Given the description of an element on the screen output the (x, y) to click on. 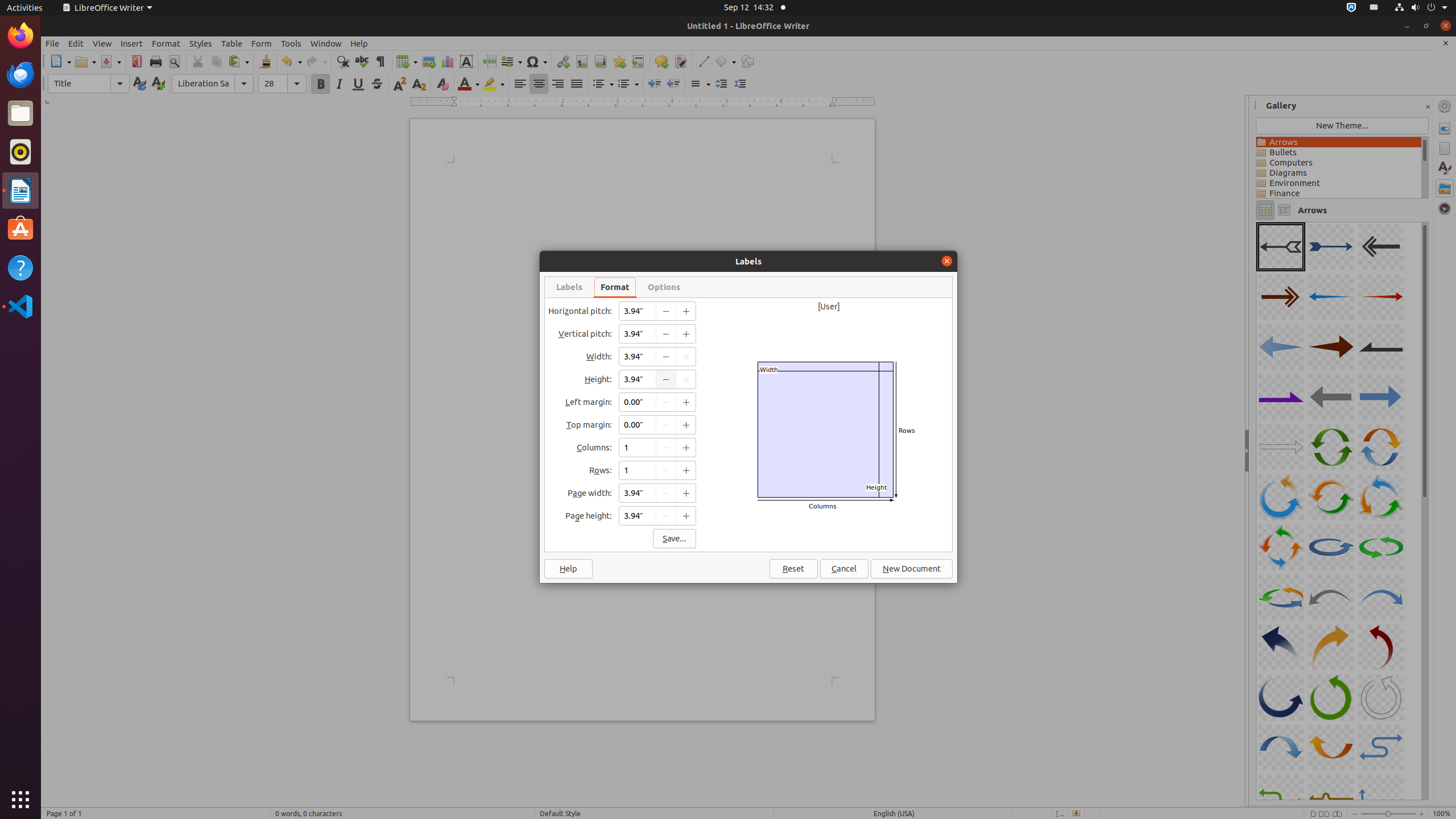
Firefox Web Browser Element type: push-button (20, 35)
System Element type: menu (1420, 7)
:1.72/StatusNotifierItem Element type: menu (1350, 7)
Files Element type: push-button (20, 113)
Rhythmbox Element type: push-button (20, 151)
